Given the description of an element on the screen output the (x, y) to click on. 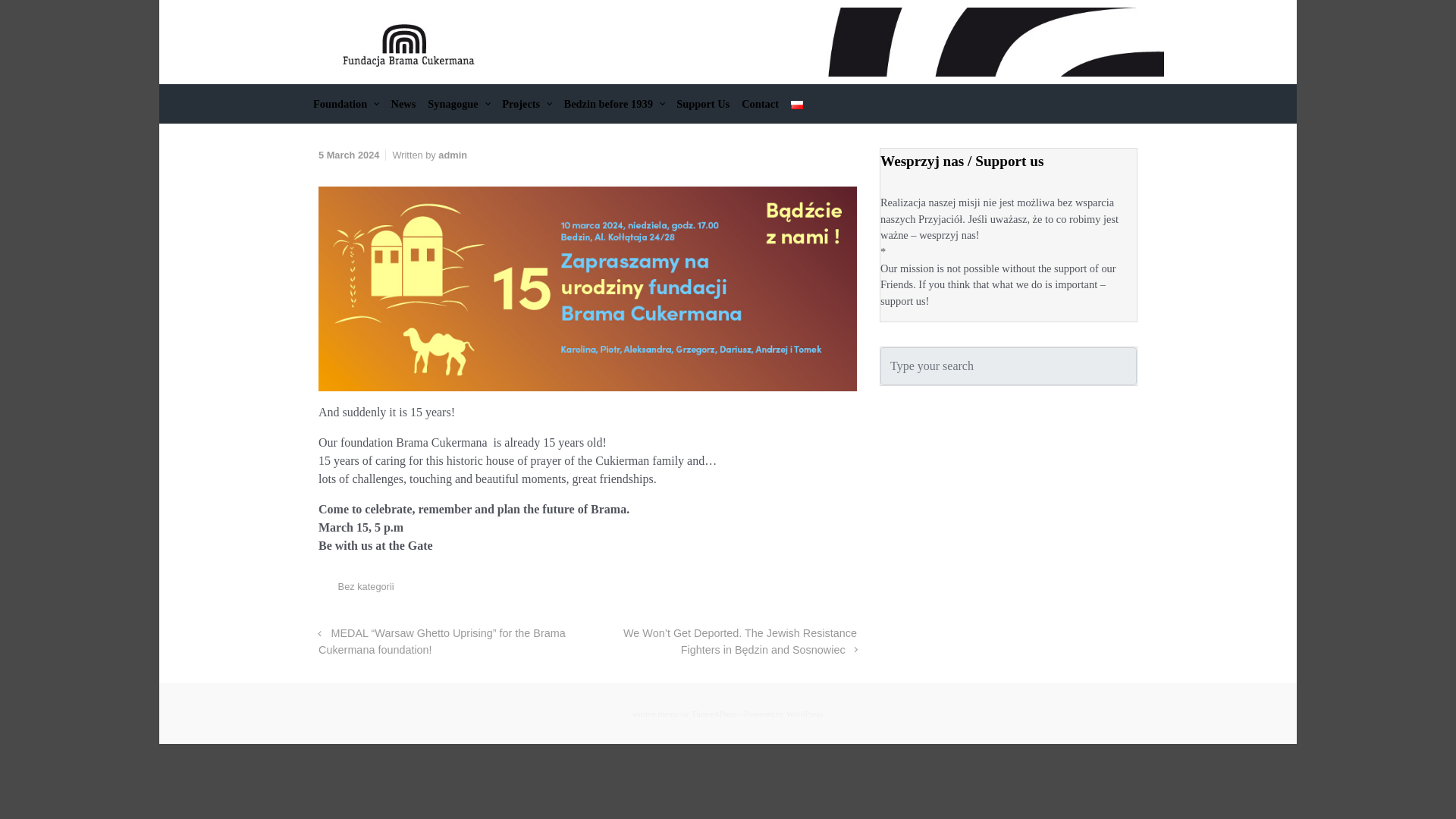
Bedzin before 1939 (614, 103)
Synagogue (459, 103)
Support Us (702, 103)
admin (452, 154)
Bez kategorii (365, 586)
Skip to main content (16, 7)
View all posts by admin (452, 154)
Contact (759, 103)
evolve (644, 713)
Foundation (346, 103)
Projects (526, 103)
News (403, 103)
